Given the description of an element on the screen output the (x, y) to click on. 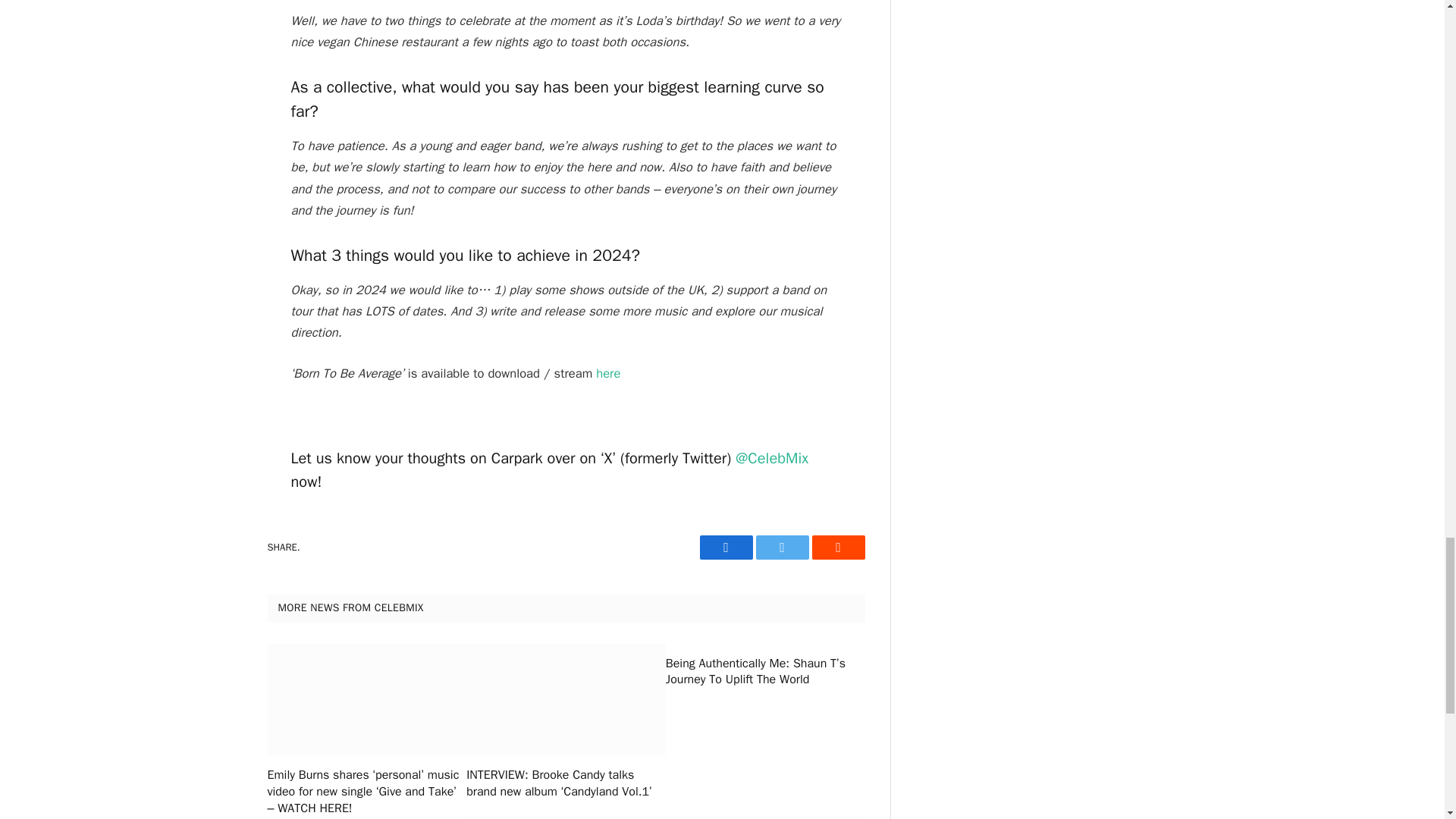
Twitter (781, 547)
Facebook (725, 547)
Reddit (837, 547)
here (607, 373)
